Given the description of an element on the screen output the (x, y) to click on. 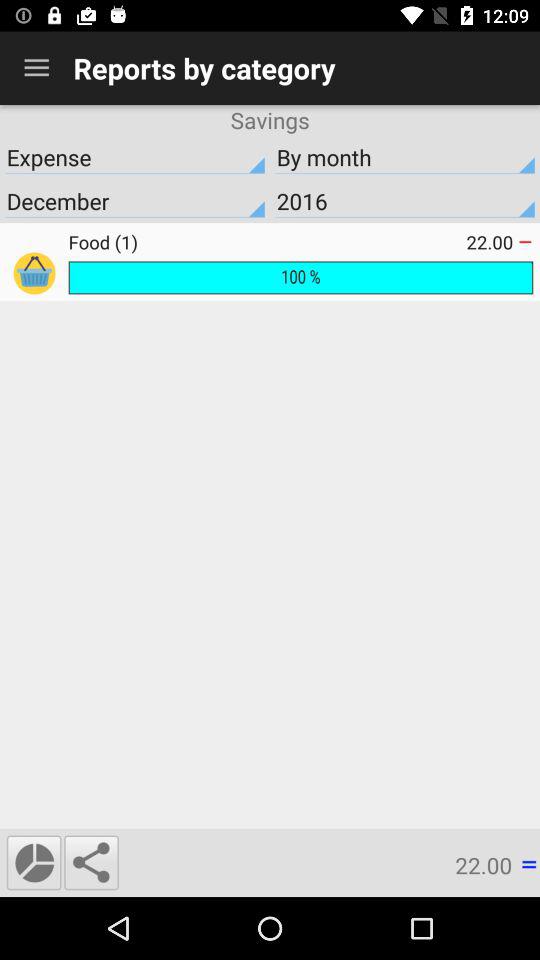
turn off item above the december (405, 157)
